Given the description of an element on the screen output the (x, y) to click on. 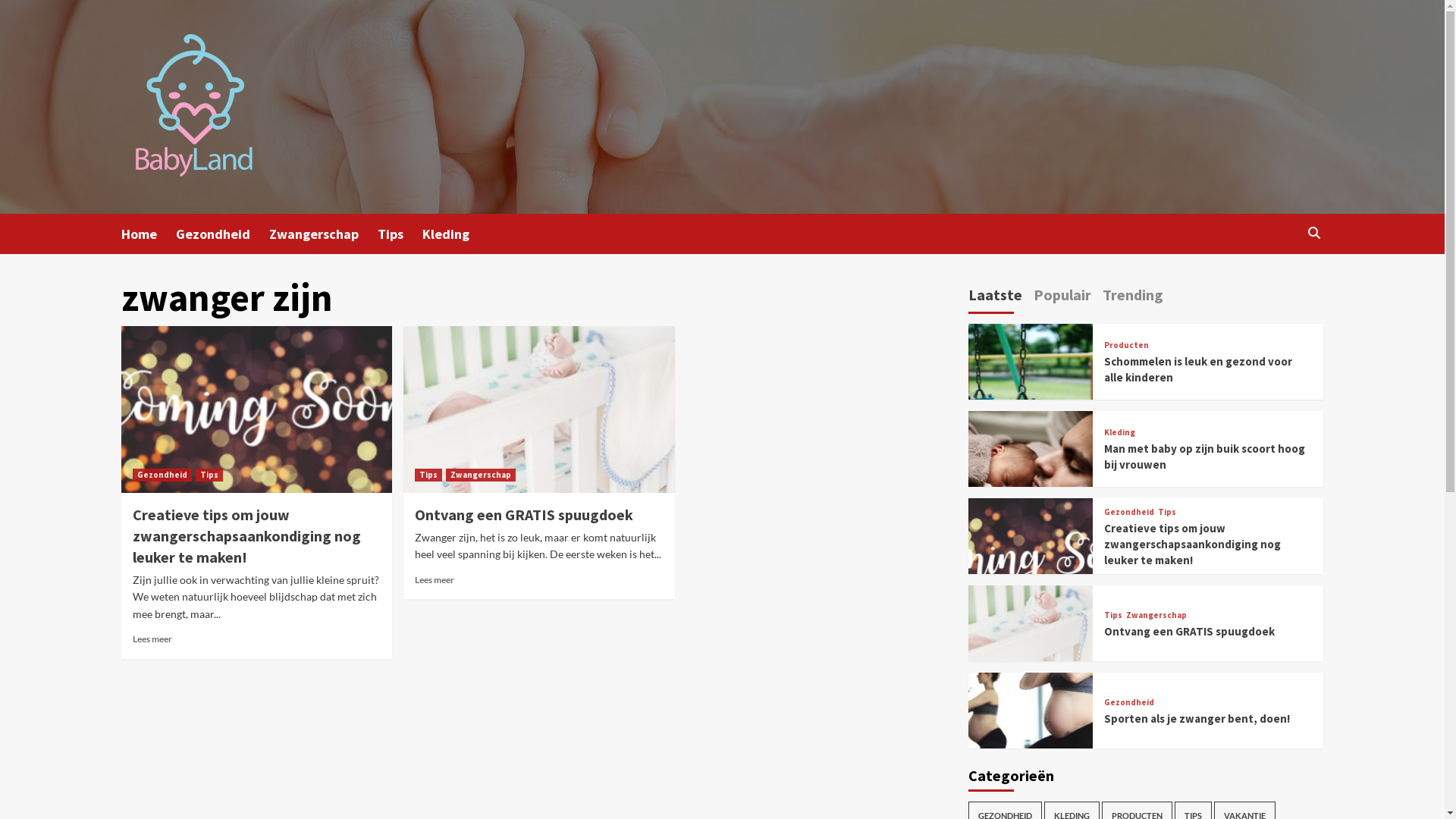
Ontvang een GRATIS spuugdoek Element type: text (523, 514)
Zoeken Element type: text (1278, 279)
Laatste Element type: text (995, 296)
Sporten als je zwanger bent, doen! Element type: text (1196, 718)
Populair Element type: text (1062, 296)
Tips Element type: text (208, 474)
Lees meer Element type: text (434, 579)
Gezondheid Element type: text (1129, 512)
Tips Element type: text (428, 474)
Zwangerschap Element type: text (323, 233)
Tips Element type: text (1113, 615)
Gezondheid Element type: text (222, 233)
Tips Element type: text (1166, 512)
Kleding Element type: text (455, 233)
Home Element type: text (148, 233)
Zwangerschap Element type: text (1156, 615)
Search Element type: hover (1313, 232)
Gezondheid Element type: text (161, 474)
Tips Element type: text (399, 233)
Kleding Element type: text (1119, 432)
Lees meer Element type: text (152, 638)
Schommelen is leuk en gezond voor alle kinderen Element type: text (1198, 369)
Producten Element type: text (1126, 345)
Zwangerschap Element type: text (480, 474)
Ontvang een GRATIS spuugdoek Element type: text (1189, 631)
Gezondheid Element type: text (1129, 702)
Trending Element type: text (1132, 296)
Man met baby op zijn buik scoort hoog bij vrouwen Element type: text (1204, 456)
